Given the description of an element on the screen output the (x, y) to click on. 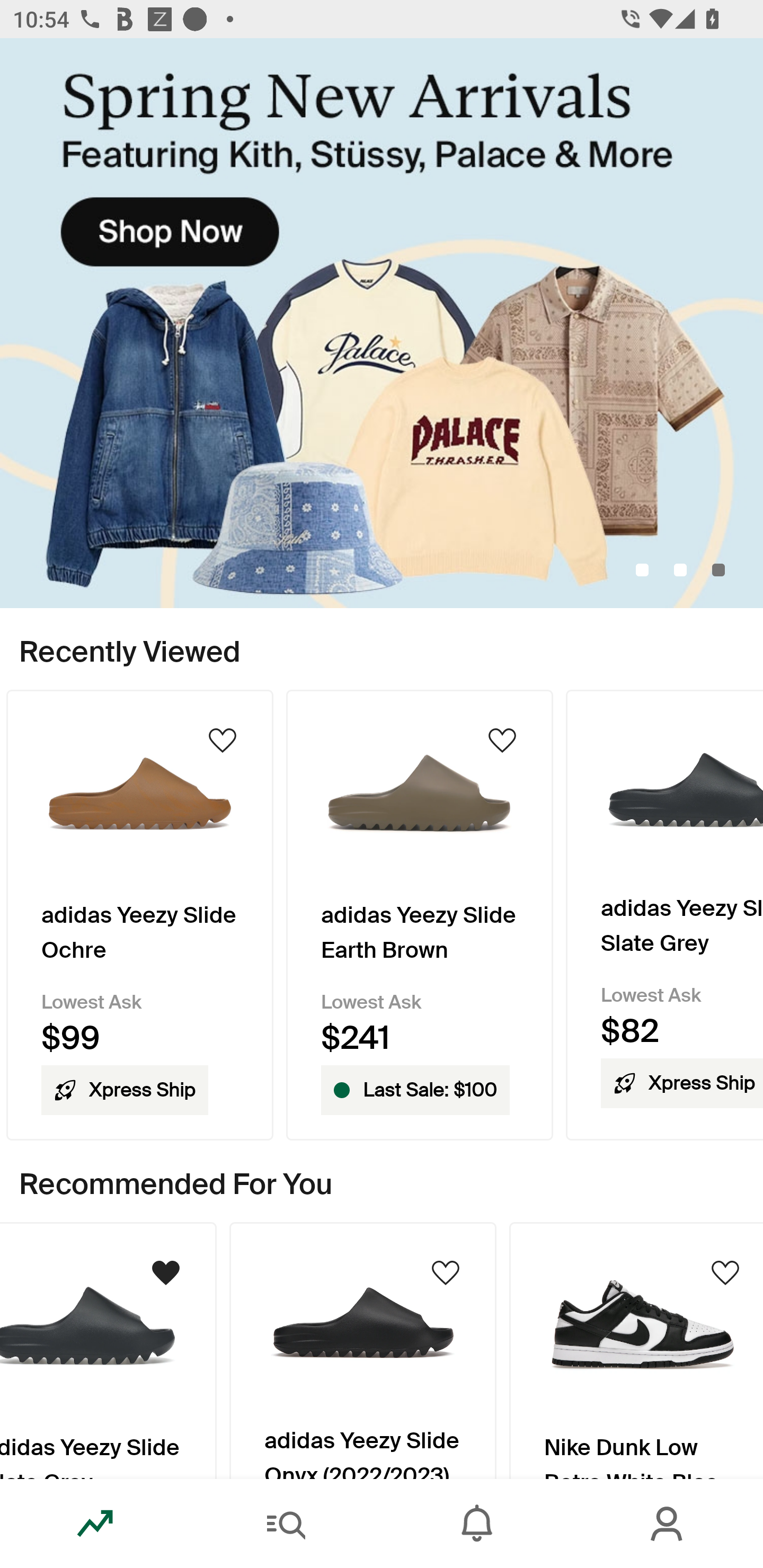
SpringNewArrivals-KithStussy_Primary_Mobile.jpg (381, 322)
Product Image adidas Yeezy Slide Slate Grey (108, 1349)
Product Image adidas Yeezy Slide Onyx (2022/2023) (362, 1349)
Search (285, 1523)
Inbox (476, 1523)
Account (667, 1523)
